Given the description of an element on the screen output the (x, y) to click on. 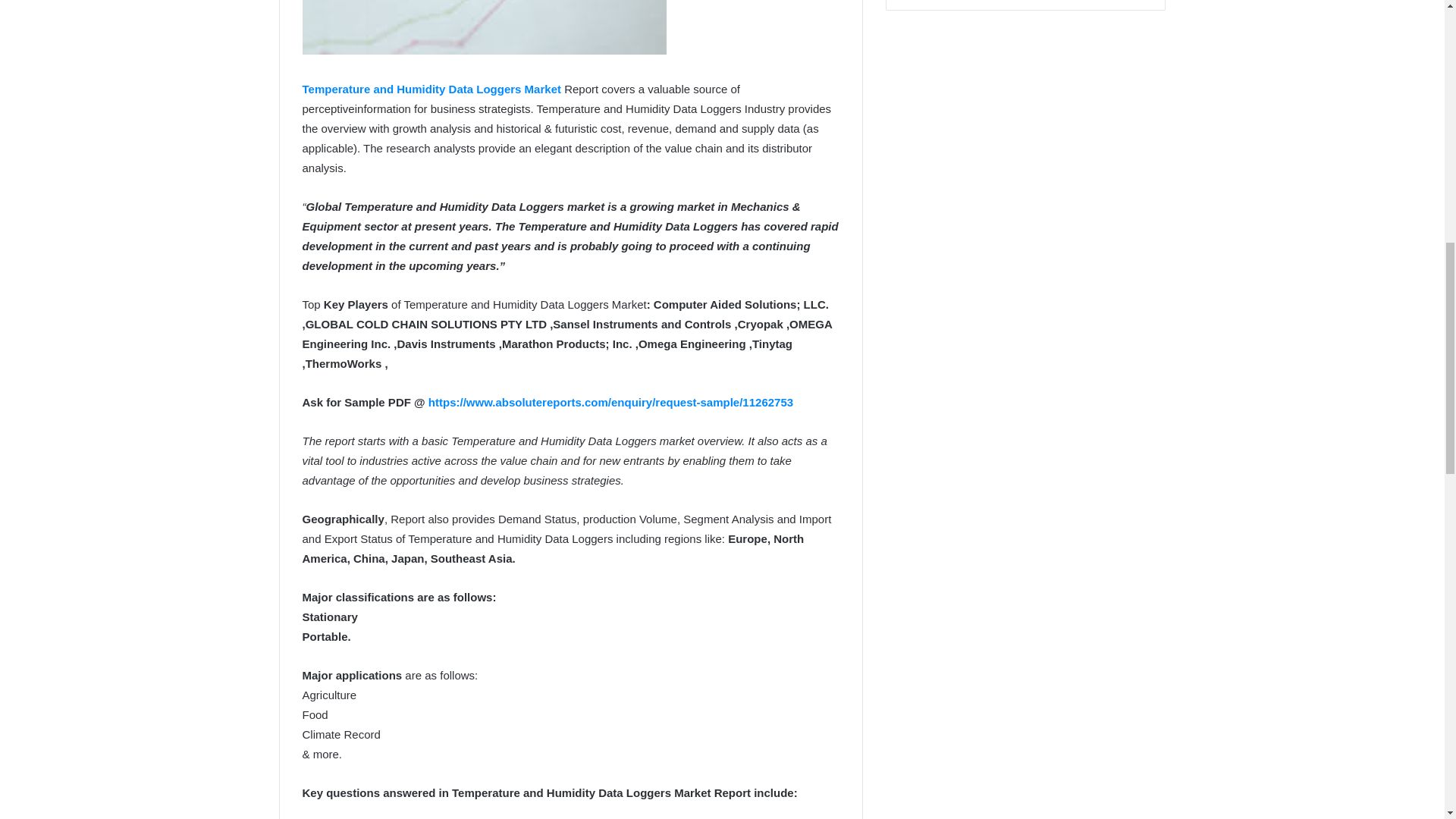
Temperature and Humidity Data Loggers Market (430, 88)
